Given the description of an element on the screen output the (x, y) to click on. 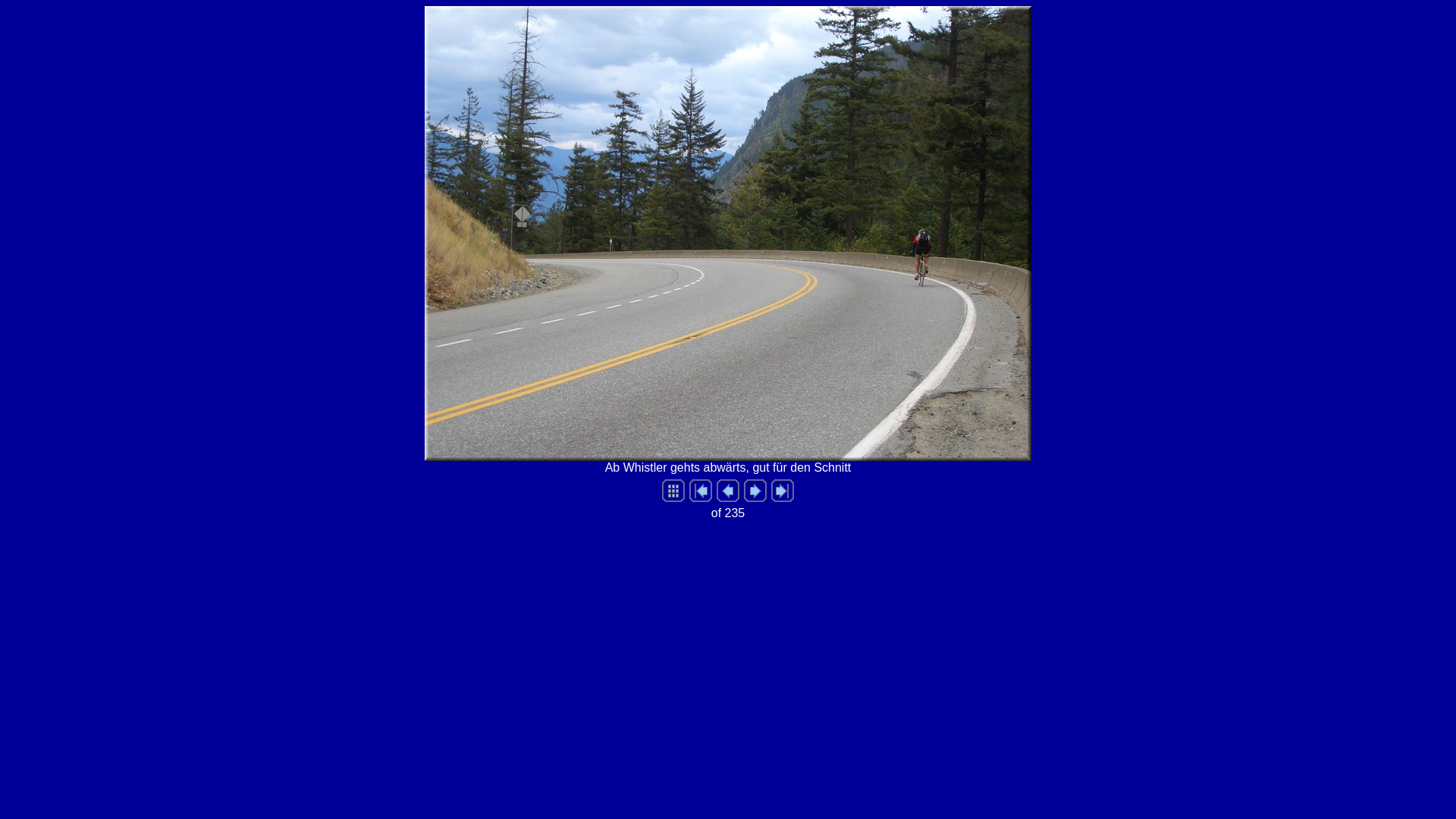
kanada06_014.jpg Element type: hover (727, 233)
